Given the description of an element on the screen output the (x, y) to click on. 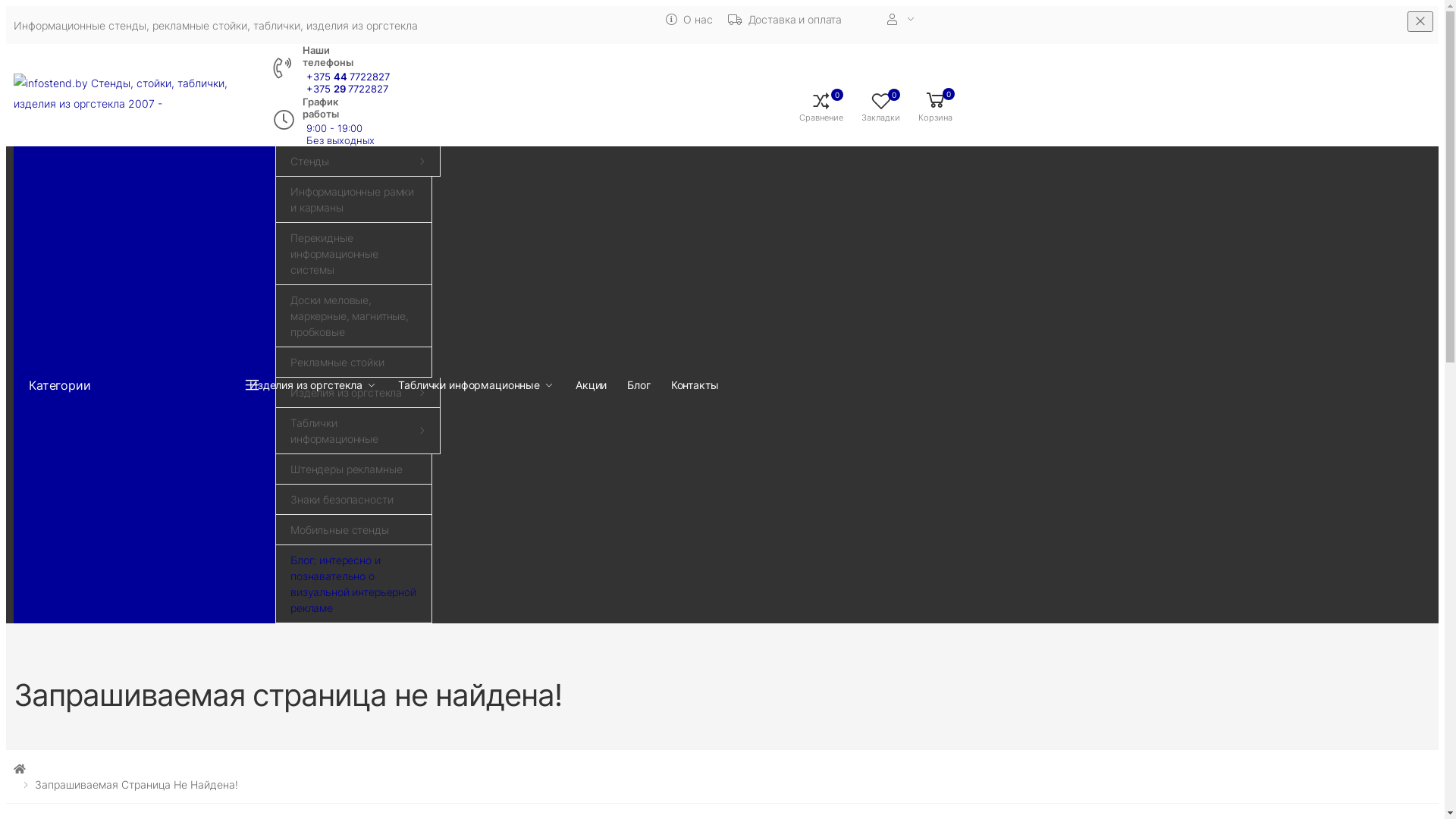
+375 44 7722827 Element type: text (347, 76)
+375 29 7722827 Element type: text (347, 88)
